Given the description of an element on the screen output the (x, y) to click on. 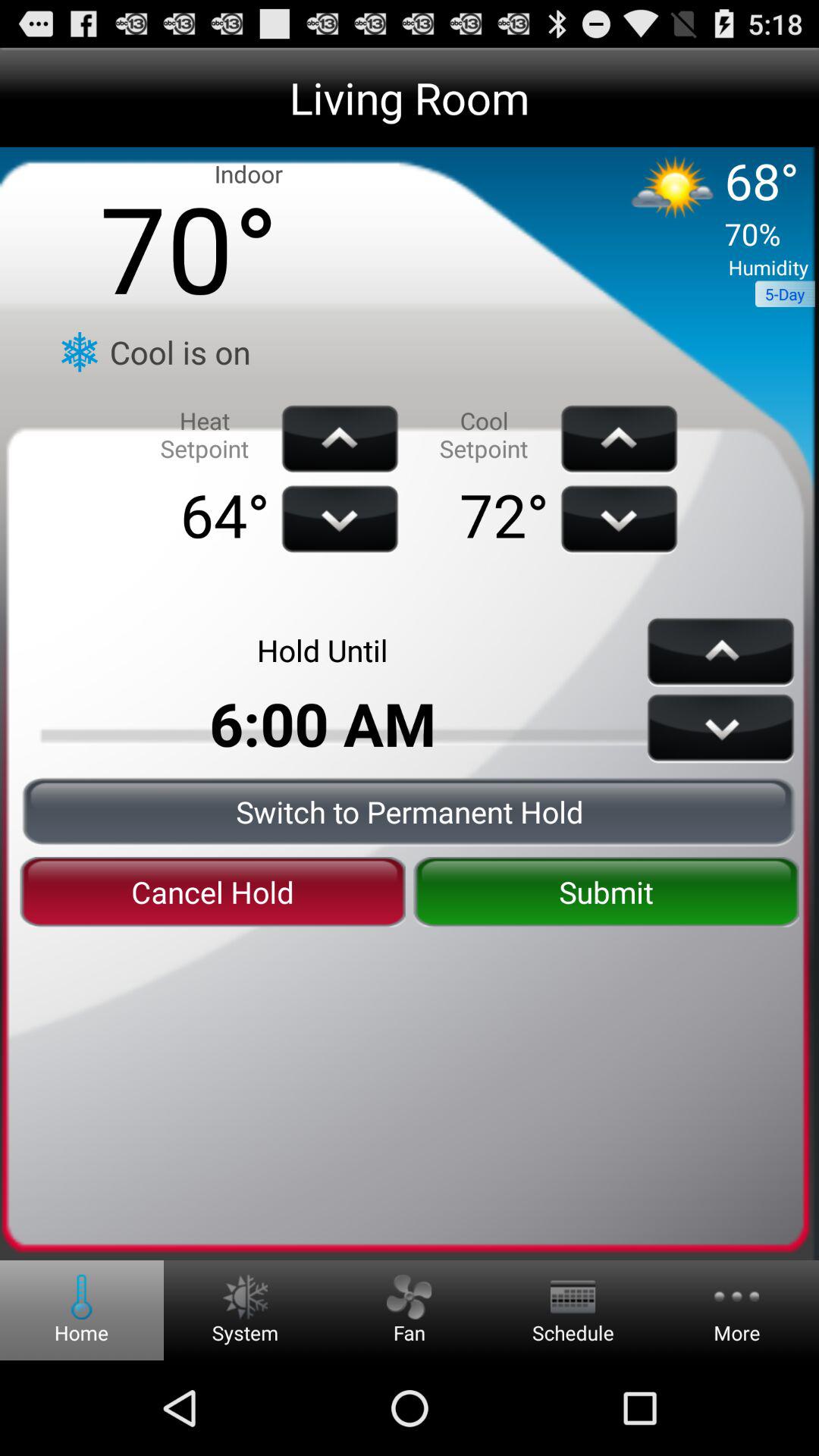
launch switch to permanent button (409, 811)
